Given the description of an element on the screen output the (x, y) to click on. 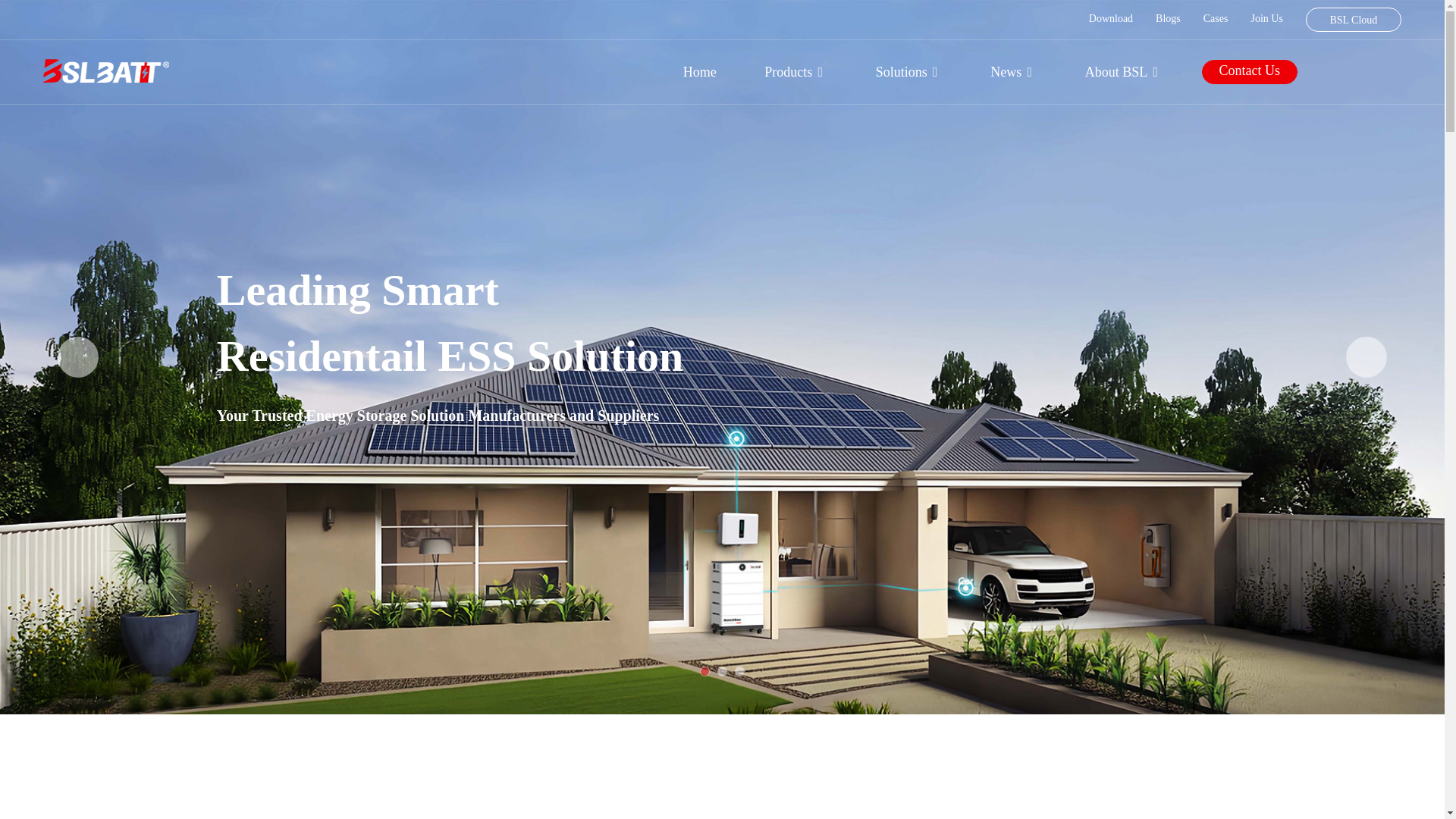
Blogs (1168, 18)
Contact Us (1249, 71)
BSL Cloud (1353, 19)
About BSL (1123, 71)
Products (795, 71)
News (1013, 71)
Download (1110, 18)
Cases (1216, 18)
Home (699, 71)
Solutions (909, 71)
